Given the description of an element on the screen output the (x, y) to click on. 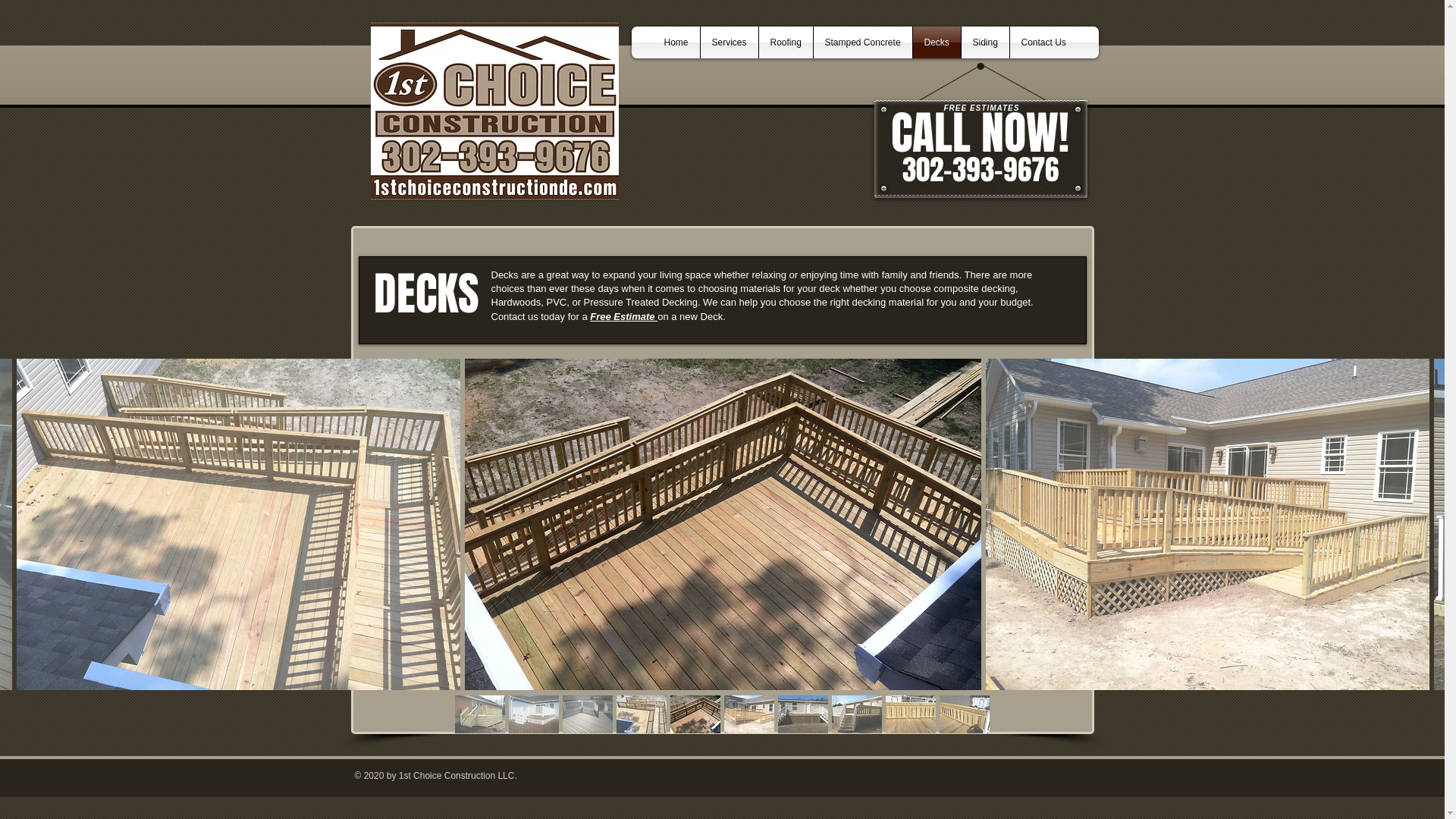
Home Element type: text (675, 42)
Services Element type: text (729, 42)
Contact Us Element type: text (1043, 42)
Decks Element type: text (936, 42)
Roofing Element type: text (785, 42)
Siding Element type: text (985, 42)
Stamped Concrete Element type: text (861, 42)
